Given the description of an element on the screen output the (x, y) to click on. 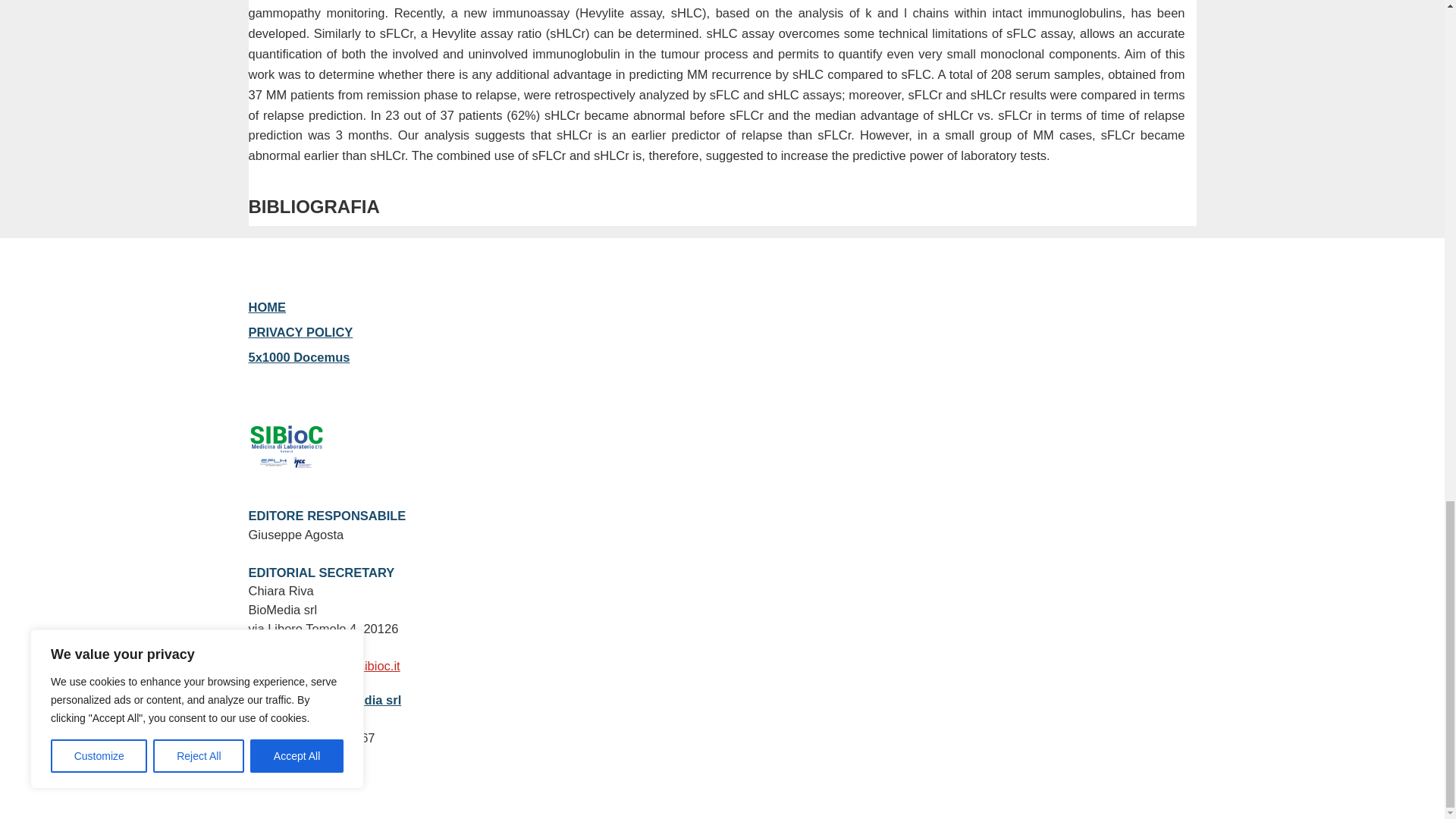
HOME (267, 306)
5x1000 Docemus (299, 356)
Designed by Biomedia srl (324, 699)
PRIVACY POLICY (300, 332)
